Given the description of an element on the screen output the (x, y) to click on. 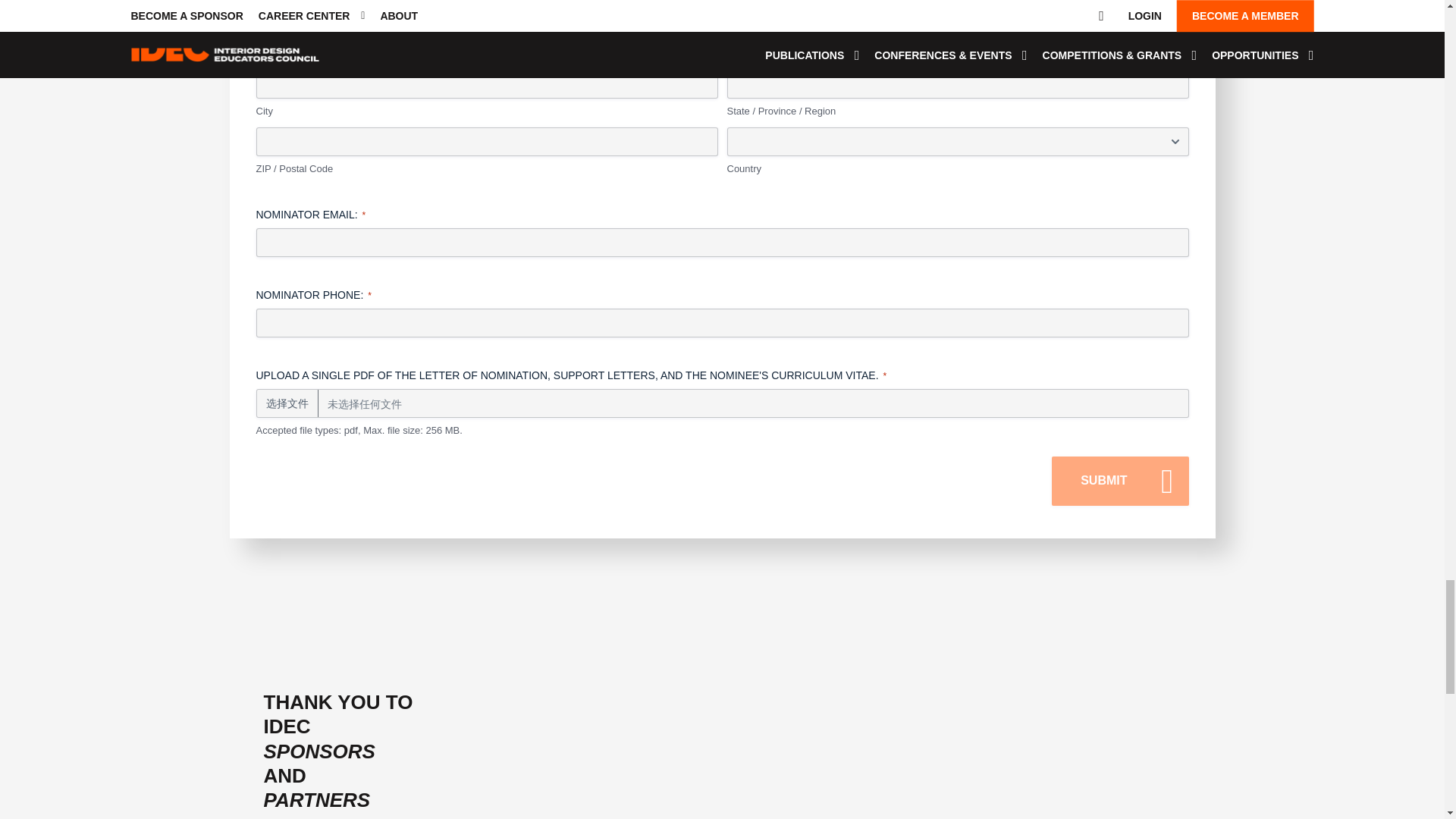
Submit (1119, 481)
